Given the description of an element on the screen output the (x, y) to click on. 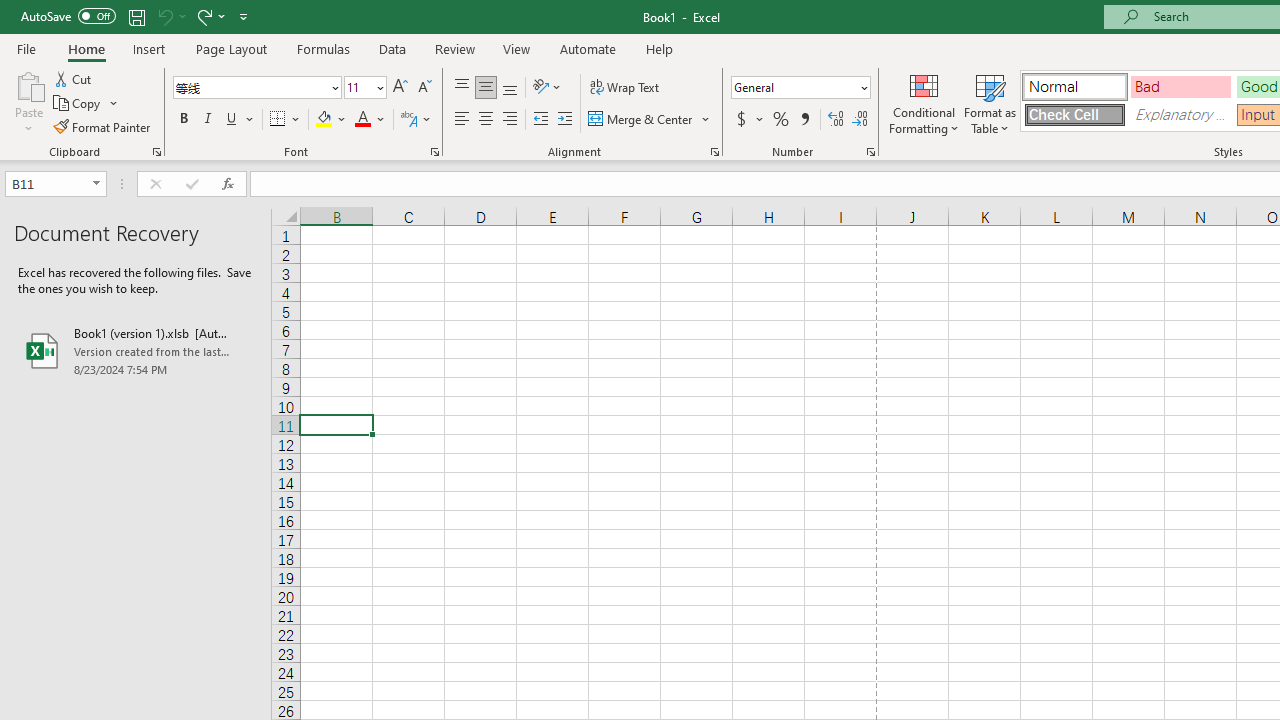
Format Cell Alignment (714, 151)
Borders (285, 119)
Font Size (365, 87)
Conditional Formatting (924, 102)
Percent Style (781, 119)
Accounting Number Format (749, 119)
Orientation (547, 87)
Align Right (509, 119)
Comma Style (804, 119)
